Given the description of an element on the screen output the (x, y) to click on. 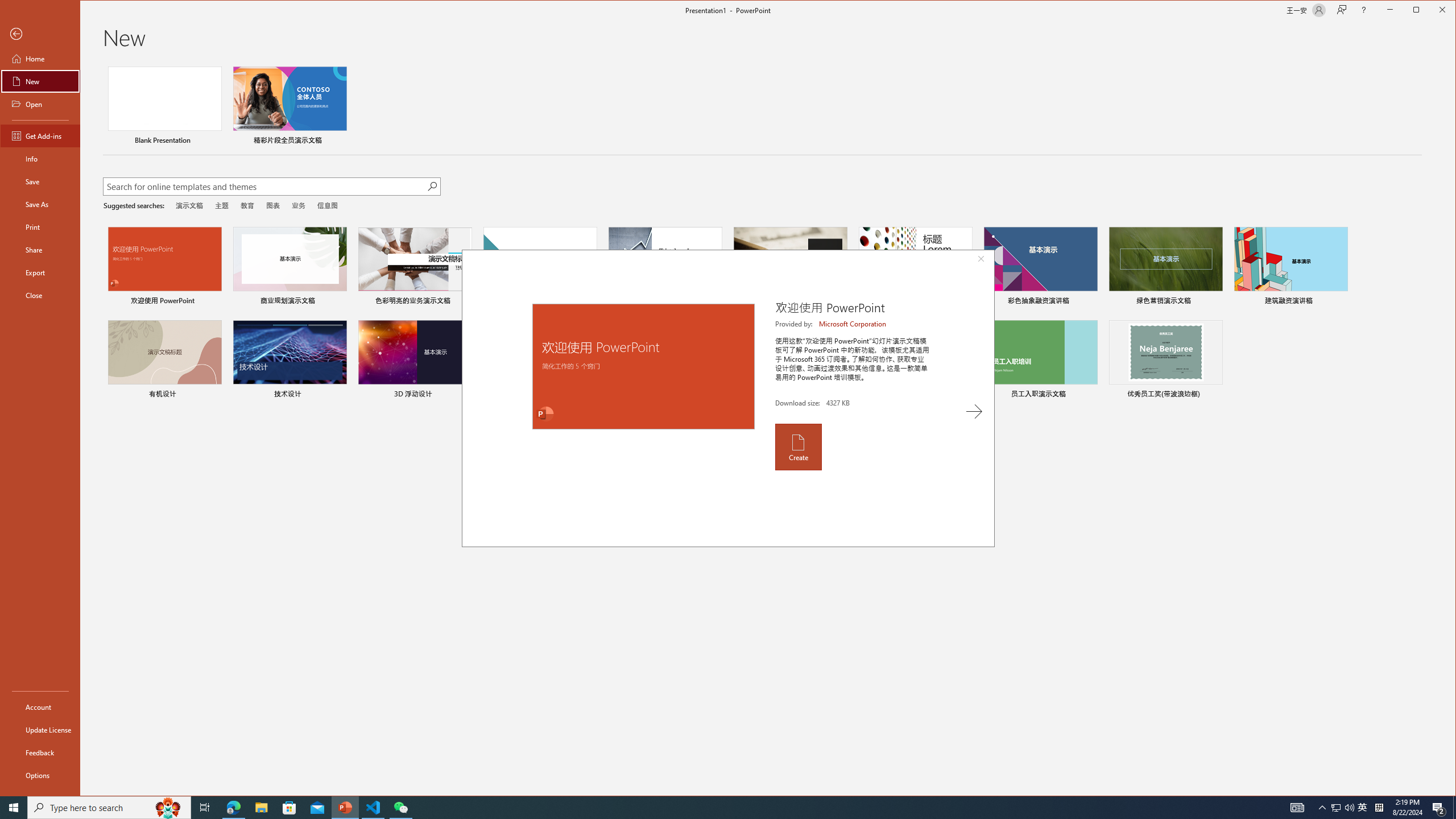
Save As (40, 203)
File Explorer (261, 807)
Notification Chevron (1322, 807)
Next Template (974, 411)
AutomationID: 4105 (1297, 807)
Open (40, 103)
Search highlights icon opens search home window (167, 807)
Task View (204, 807)
Microsoft Corporation (853, 323)
